Given the description of an element on the screen output the (x, y) to click on. 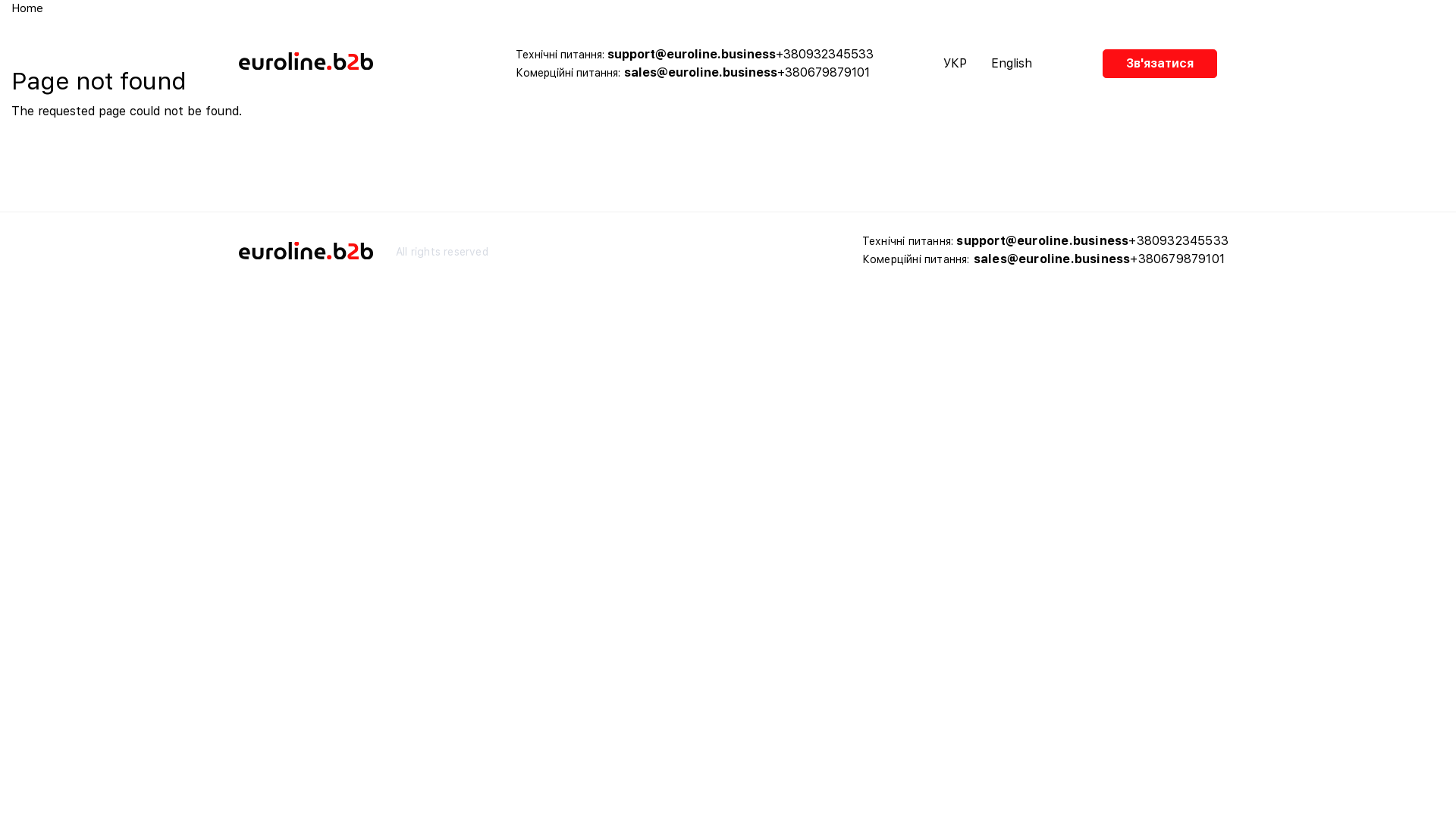
support@euroline.business Element type: text (1042, 240)
Home Element type: text (27, 8)
sales@euroline.business Element type: text (1051, 258)
support@euroline.business Element type: text (691, 54)
English Element type: text (1011, 63)
Home Element type: hover (341, 63)
sales@euroline.business Element type: text (700, 72)
